Given the description of an element on the screen output the (x, y) to click on. 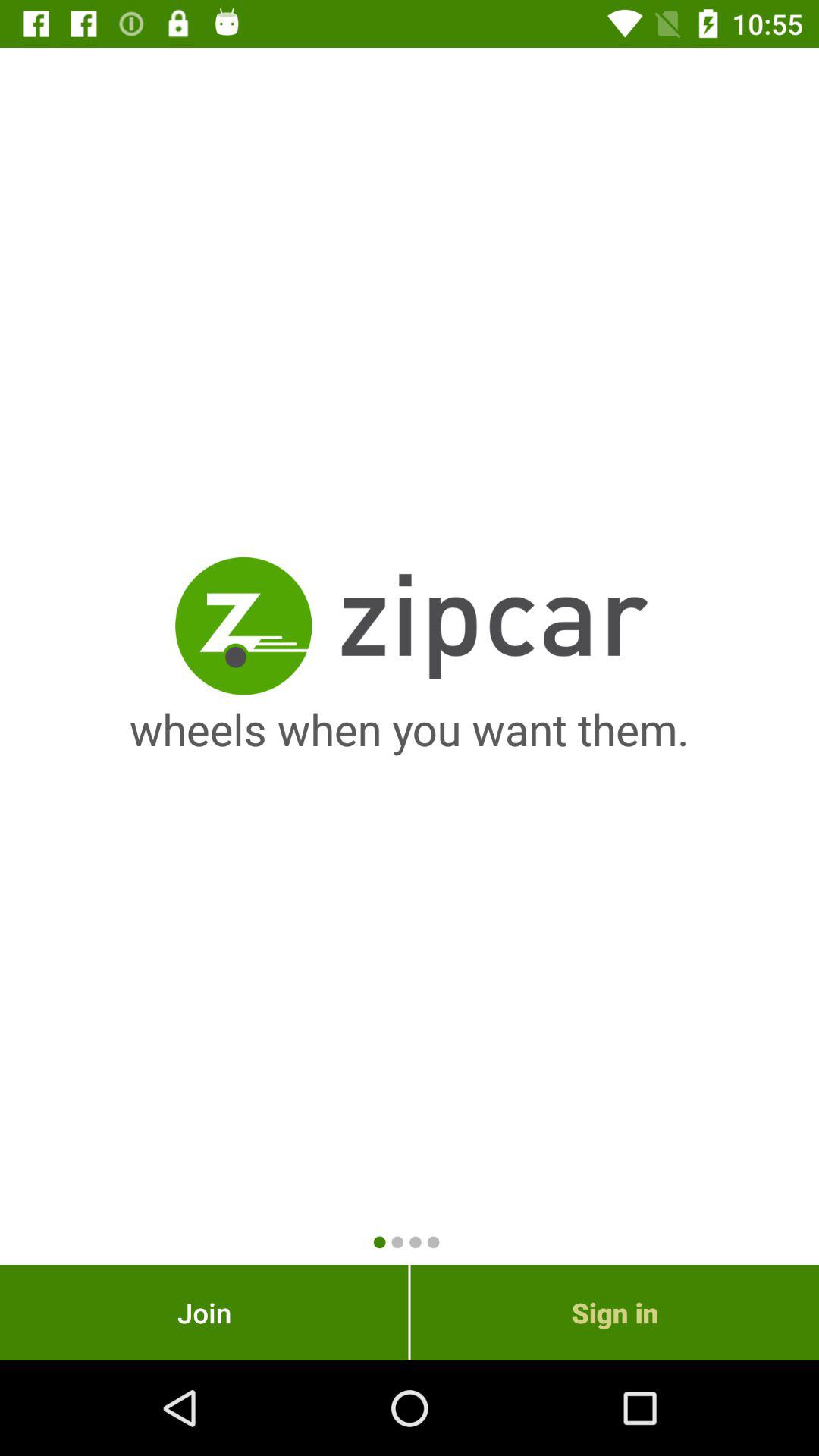
open the item to the right of the join (614, 1312)
